Given the description of an element on the screen output the (x, y) to click on. 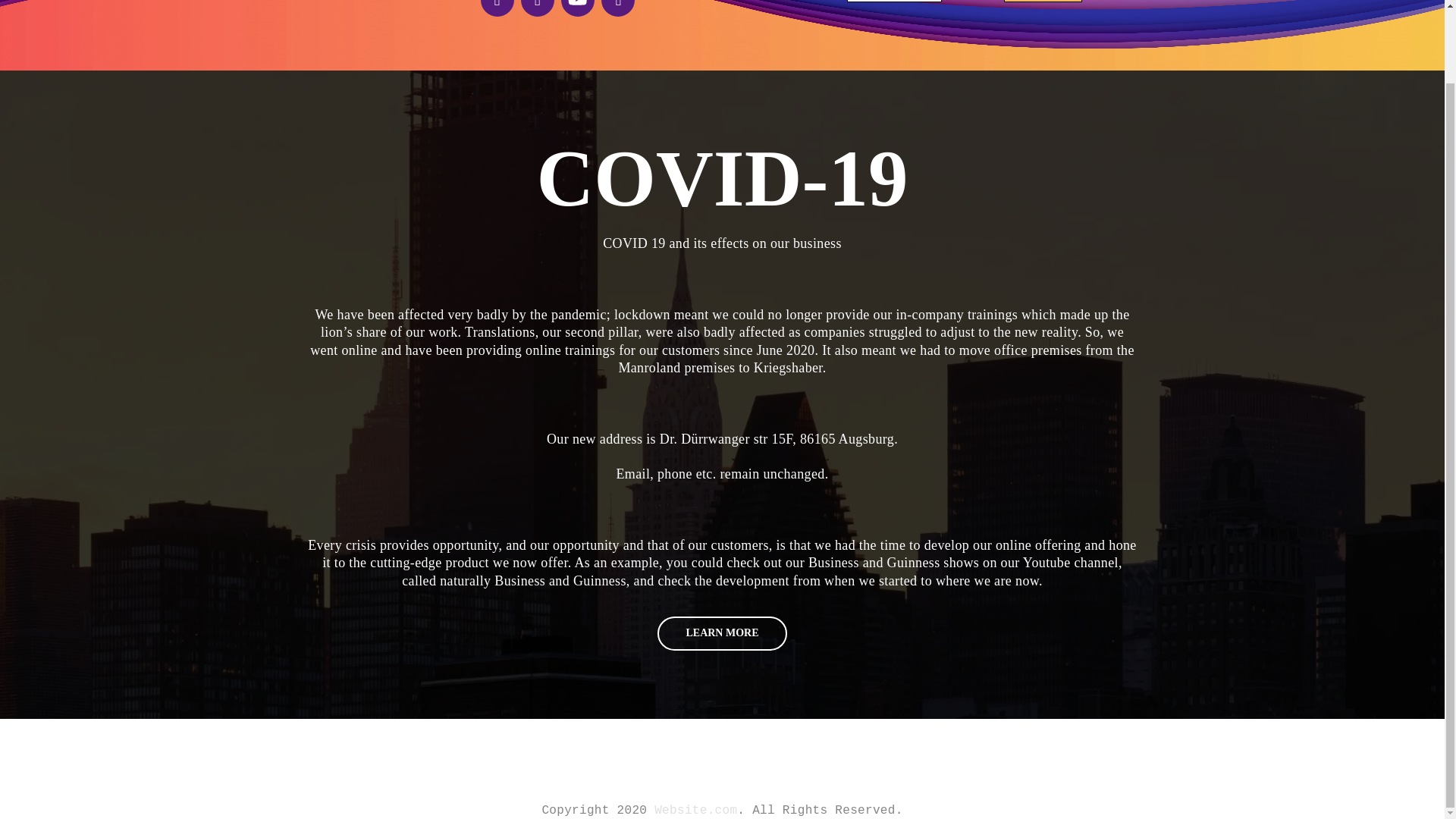
Website (596, 697)
Website Builder (829, 697)
